Given the description of an element on the screen output the (x, y) to click on. 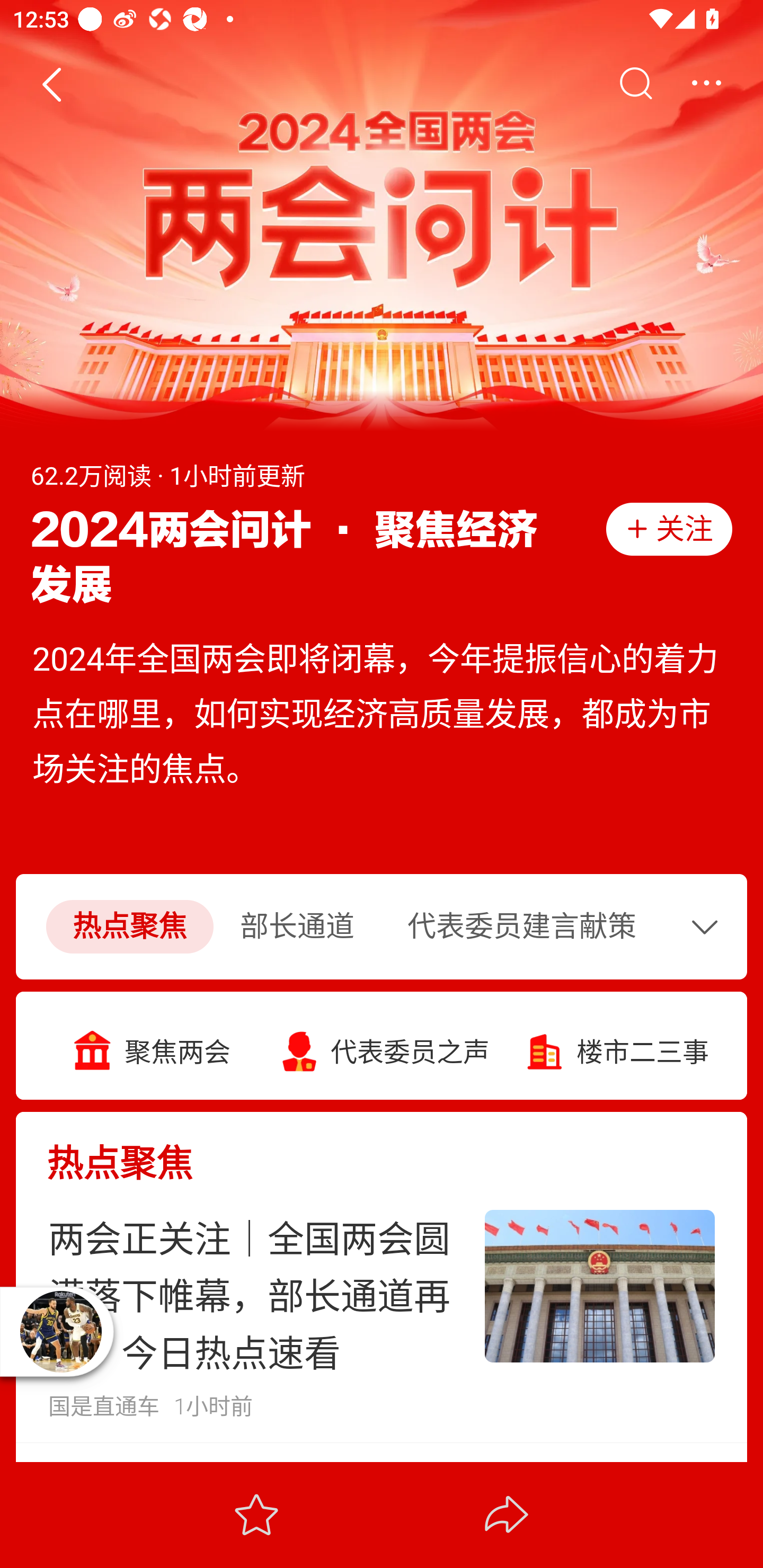
 (50, 83)
 (634, 83)
 (705, 83)
 关注 (668, 529)
热点聚焦 (129, 926)
部长通道 (296, 926)
代表委员建言献策 (521, 926)
 (708, 926)
聚焦两会 代表委员之声 楼市二三事 (381, 1044)
聚焦两会 (148, 1045)
代表委员之声 (381, 1045)
楼市二三事 (614, 1045)
热点聚焦 (381, 1148)
两会正关注｜全国两会圆满落下帷幕，部长通道再启，今日热点速看 国是直通车 1小时前 (381, 1313)
播放器 (60, 1331)
收藏  (255, 1514)
分享  (506, 1514)
